Given the description of an element on the screen output the (x, y) to click on. 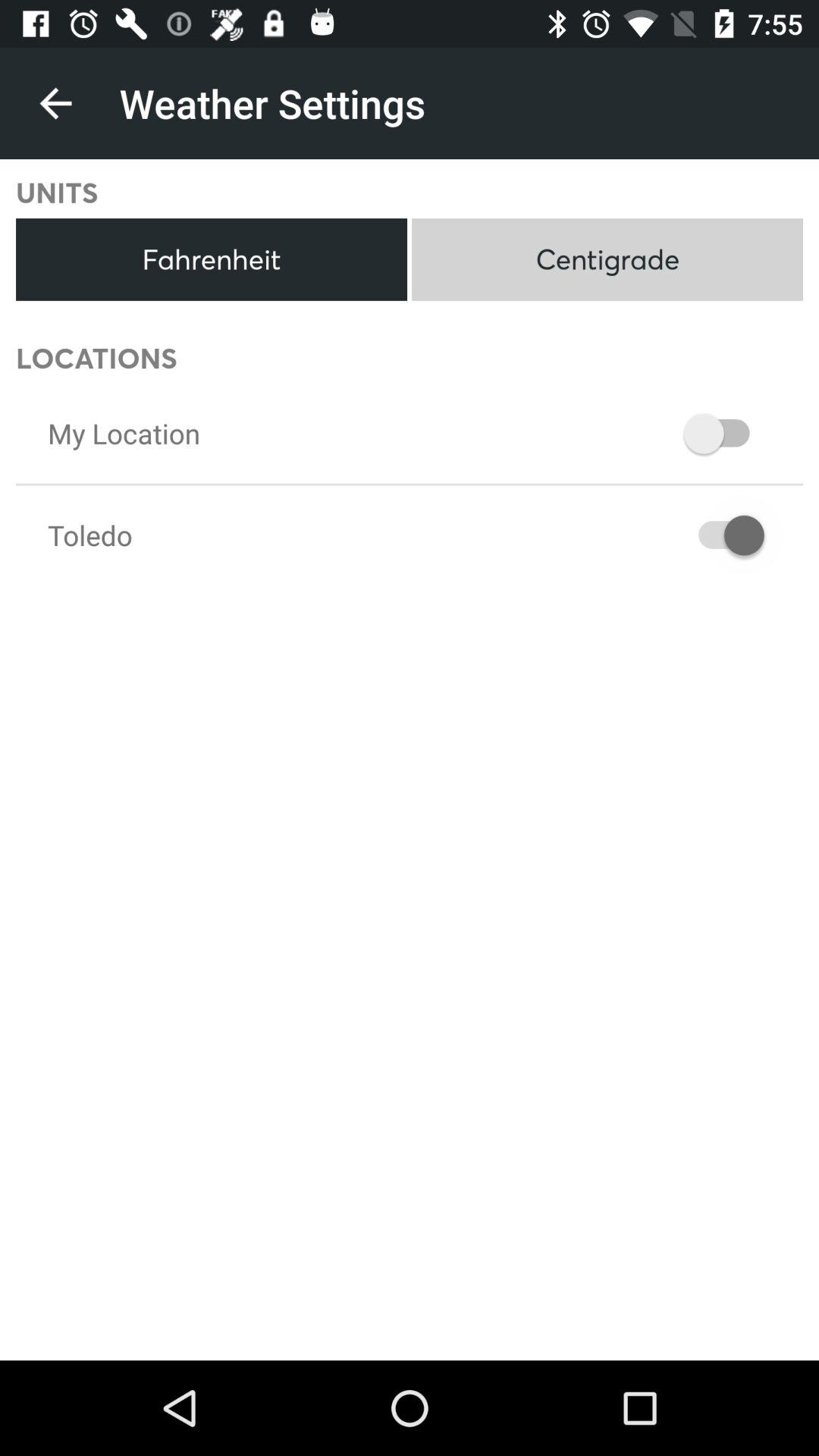
press the item below my location item (89, 534)
